Given the description of an element on the screen output the (x, y) to click on. 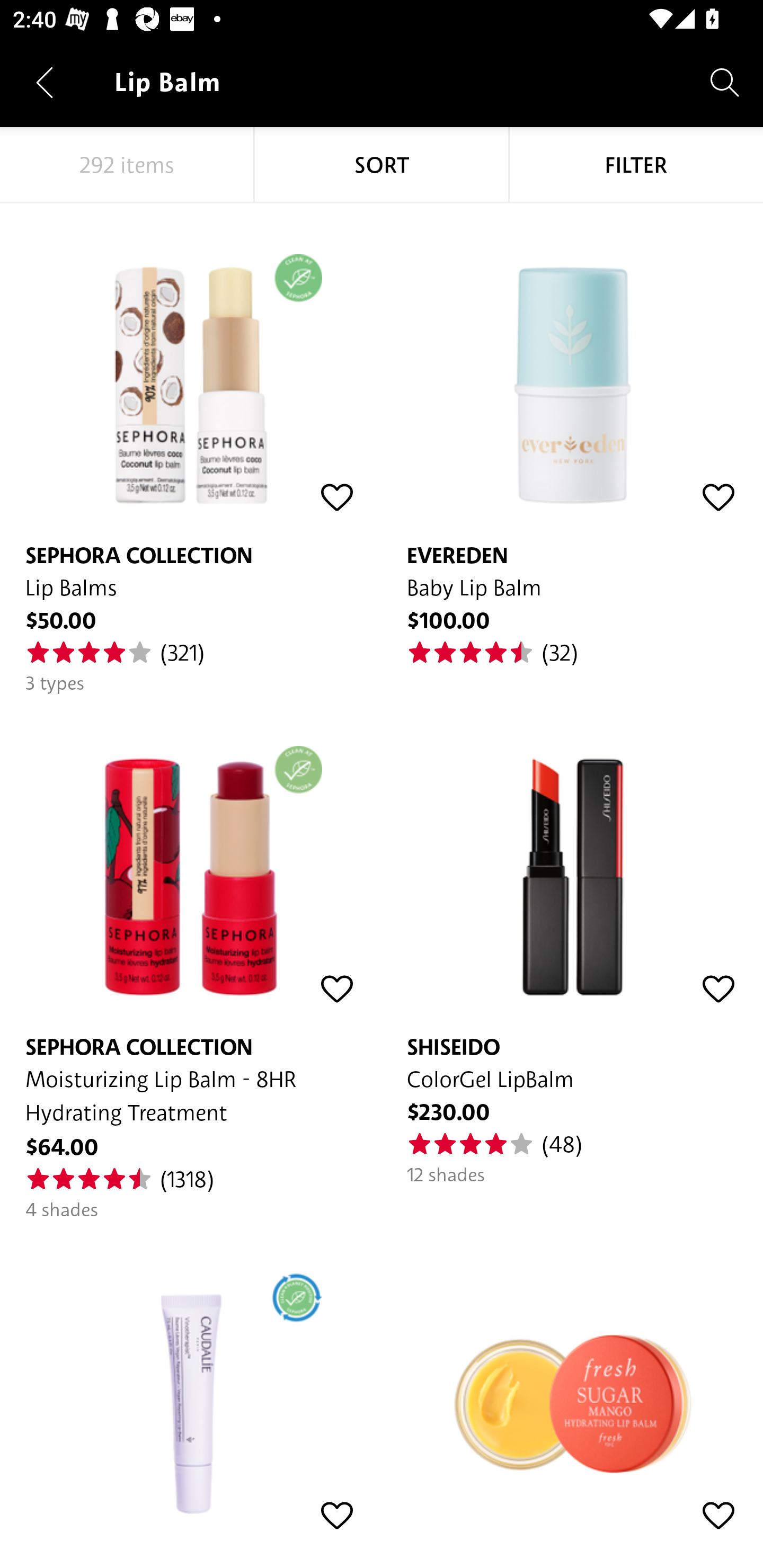
Navigate up (44, 82)
Search (724, 81)
SORT (381, 165)
FILTER (636, 165)
SEPHORA COLLECTION Lip Balms $50.00 (321) 3 types (190, 448)
EVEREDEN Baby Lip Balm $100.00 (32) (571, 434)
SHISEIDO ColorGel LipBalm $230.00 (48) 12 shades (571, 940)
CAUDALIE (190, 1381)
FRESH (571, 1381)
